Given the description of an element on the screen output the (x, y) to click on. 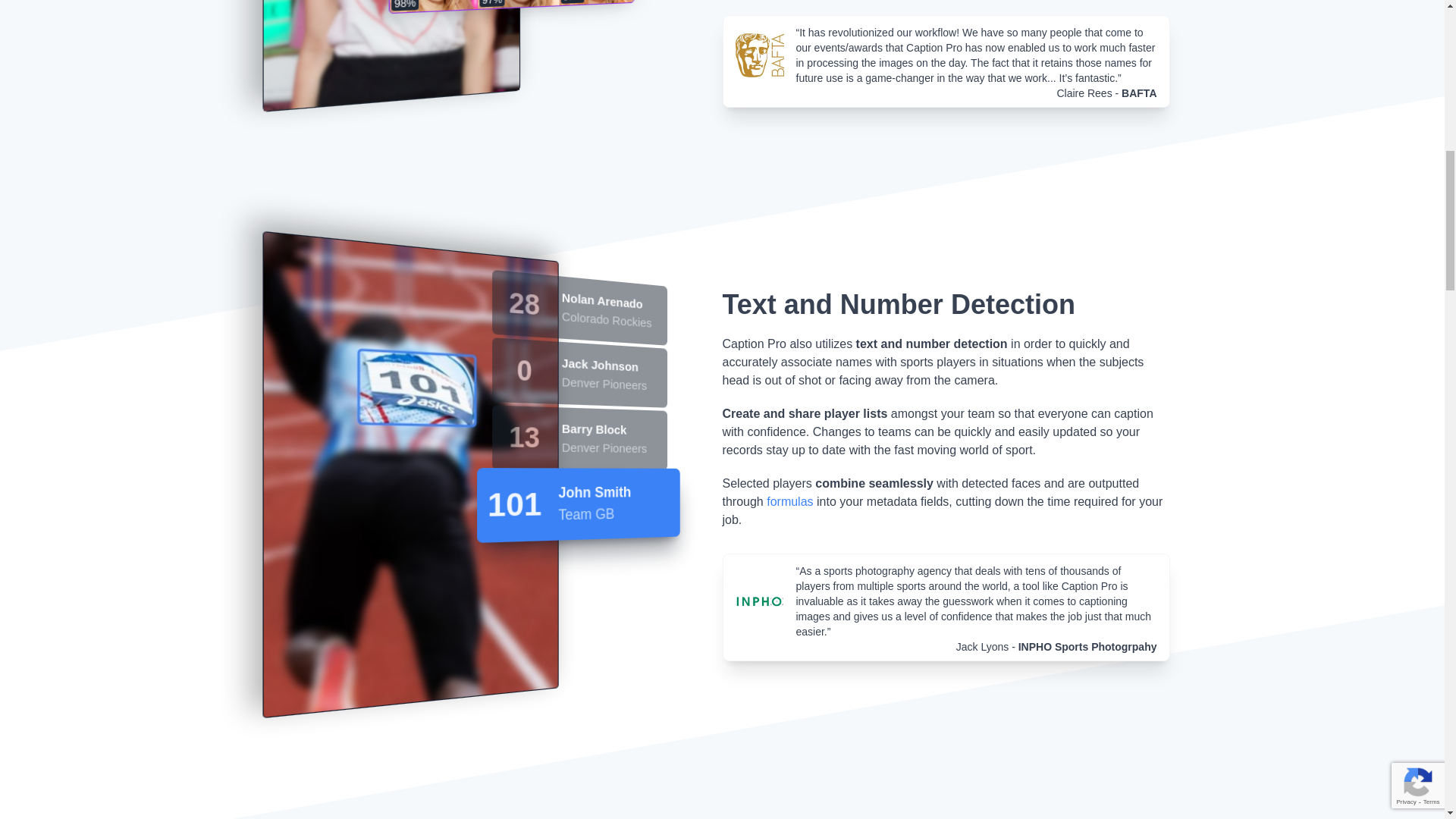
formulas (789, 501)
